Given the description of an element on the screen output the (x, y) to click on. 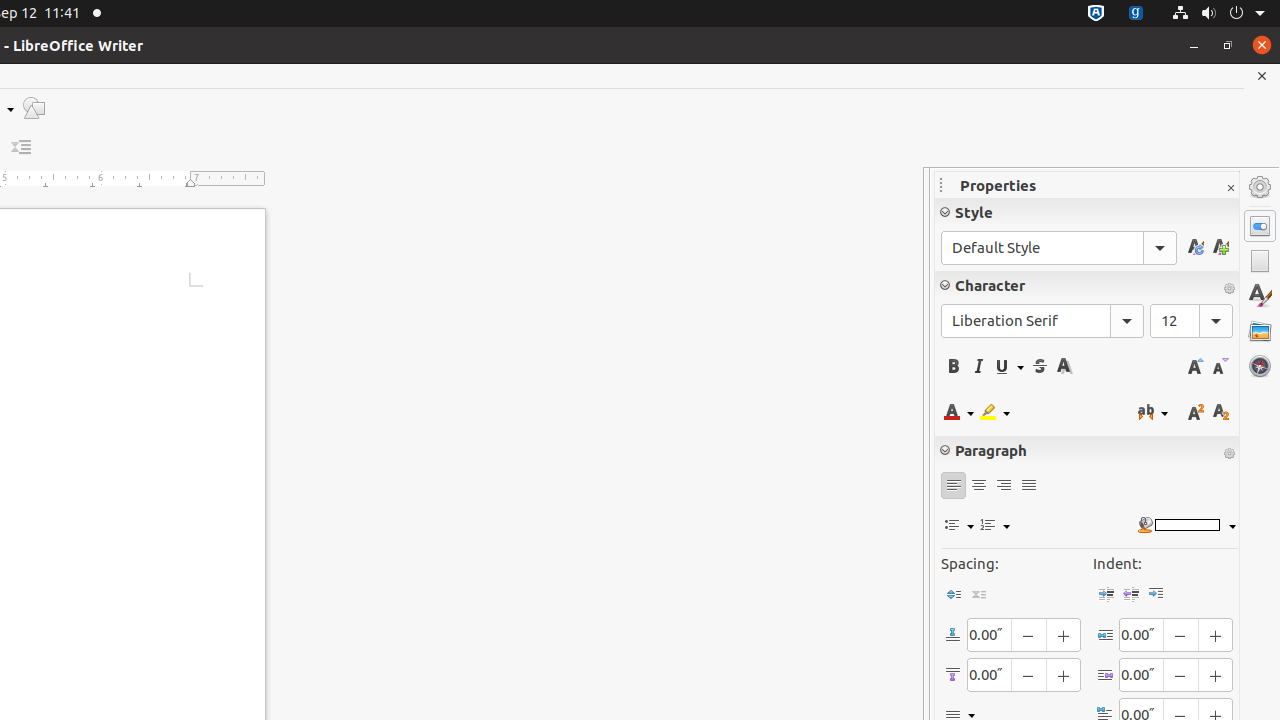
org.kde.StatusNotifierItem-14077-1 Element type: menu (1136, 13)
